Given the description of an element on the screen output the (x, y) to click on. 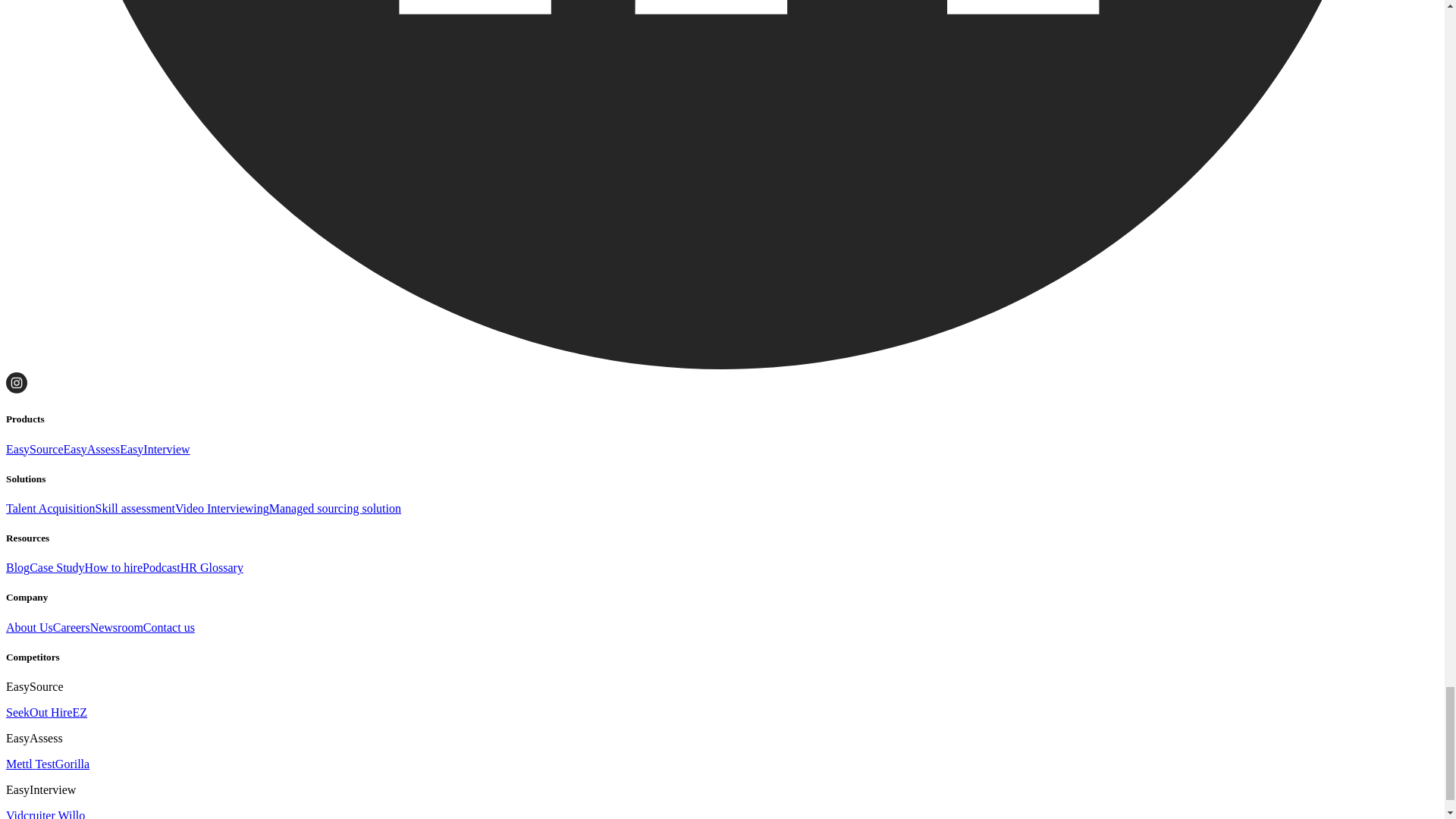
EasyAssess (92, 449)
EasySource (34, 449)
Skill assessment (135, 508)
EasyInterview (154, 449)
Talent Acquisition (50, 508)
